Given the description of an element on the screen output the (x, y) to click on. 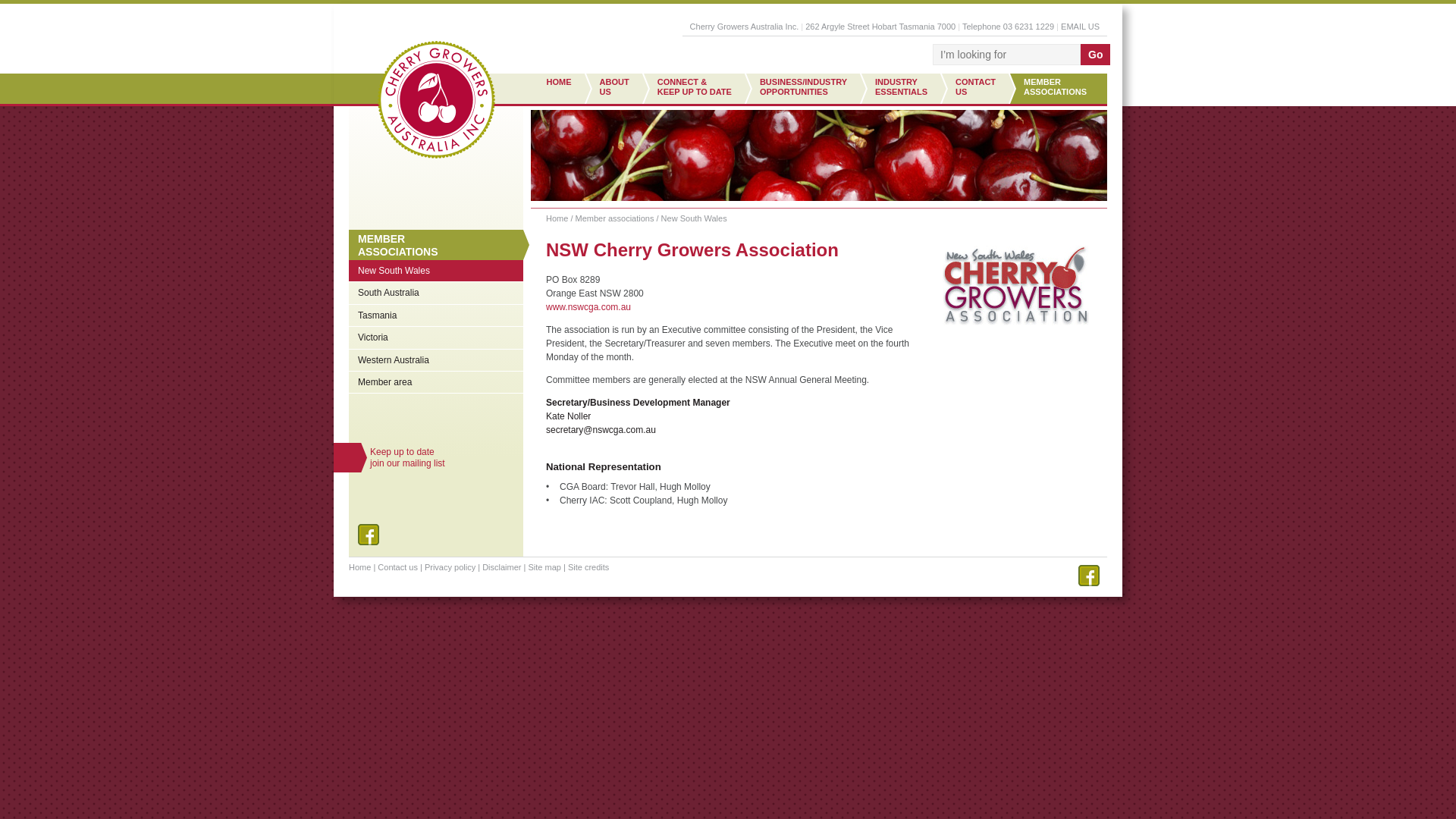
MEMBER
ASSOCIATIONS Element type: text (435, 245)
Member area Element type: text (435, 381)
Member associations Element type: text (614, 217)
Home Element type: text (556, 217)
South Australia Element type: text (435, 292)
Western Australia Element type: text (435, 359)
Site map Element type: text (543, 566)
INDUSTRY
ESSENTIALS Element type: text (903, 89)
MEMBER
ASSOCIATIONS Element type: text (1057, 89)
ABOUT
US Element type: text (616, 89)
262 Argyle Street Hobart Tasmania 7000 Element type: text (880, 26)
Victoria Element type: text (435, 337)
CONNECT &
KEEP UP TO DATE Element type: text (697, 89)
HOME Element type: text (558, 89)
CONTACT
US Element type: text (978, 89)
Site credits Element type: text (587, 566)
EMAIL US Element type: text (1079, 26)
Home Element type: text (359, 566)
Tasmania Element type: text (435, 315)
Contact us Element type: text (397, 566)
03 6231 1229 Element type: text (1028, 26)
BUSINESS/INDUSTRY
OPPORTUNITIES Element type: text (805, 89)
Go Element type: text (1095, 54)
Disclaimer Element type: text (501, 566)
Keep up to date
join our mailing list Element type: text (423, 457)
New South Wales Element type: text (435, 270)
www.nswcga.com.au Element type: text (588, 306)
Privacy policy Element type: text (449, 566)
secretary@nswcga.com.au Element type: text (600, 429)
